Given the description of an element on the screen output the (x, y) to click on. 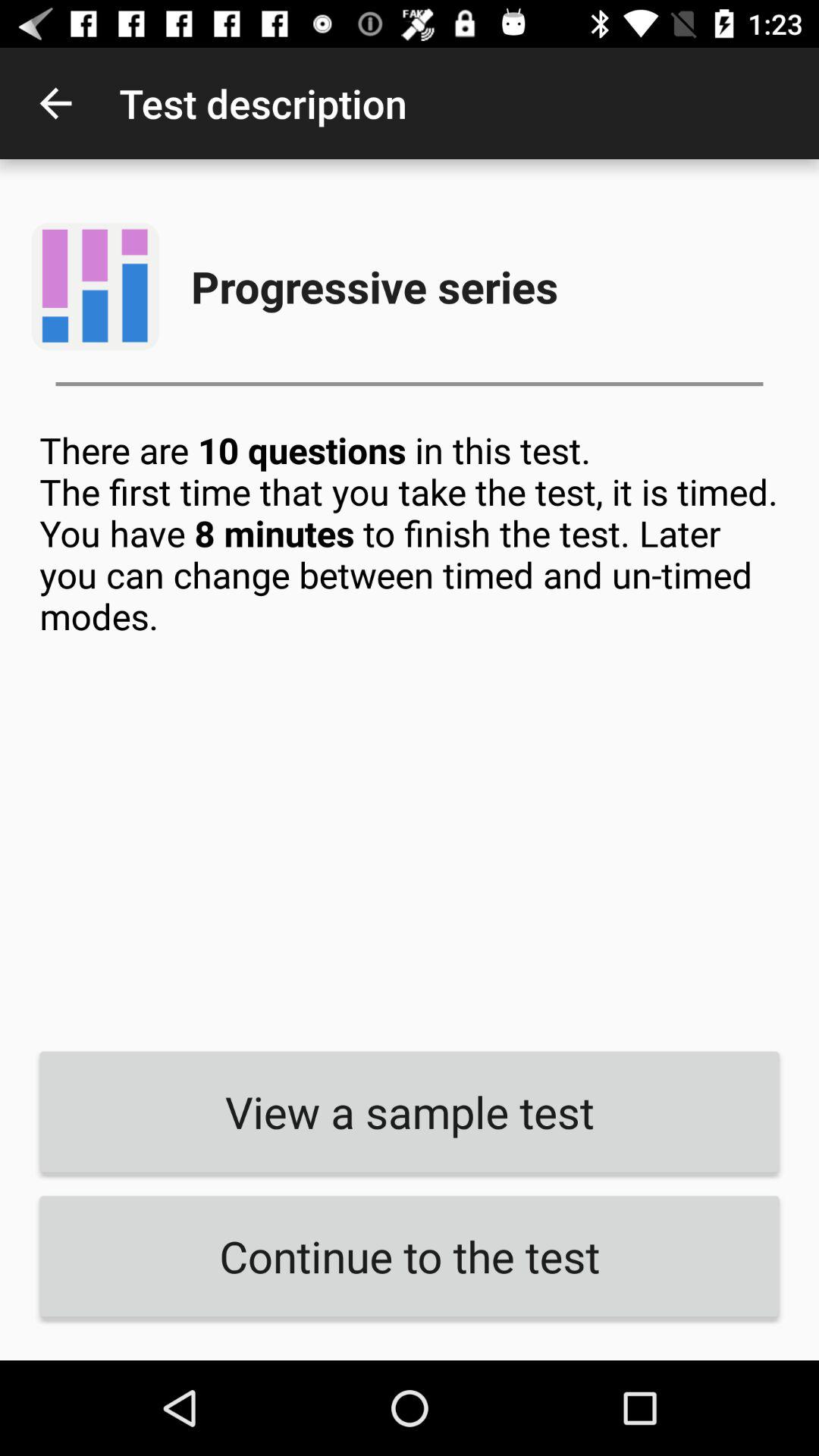
turn off the icon to the left of test description app (55, 103)
